Given the description of an element on the screen output the (x, y) to click on. 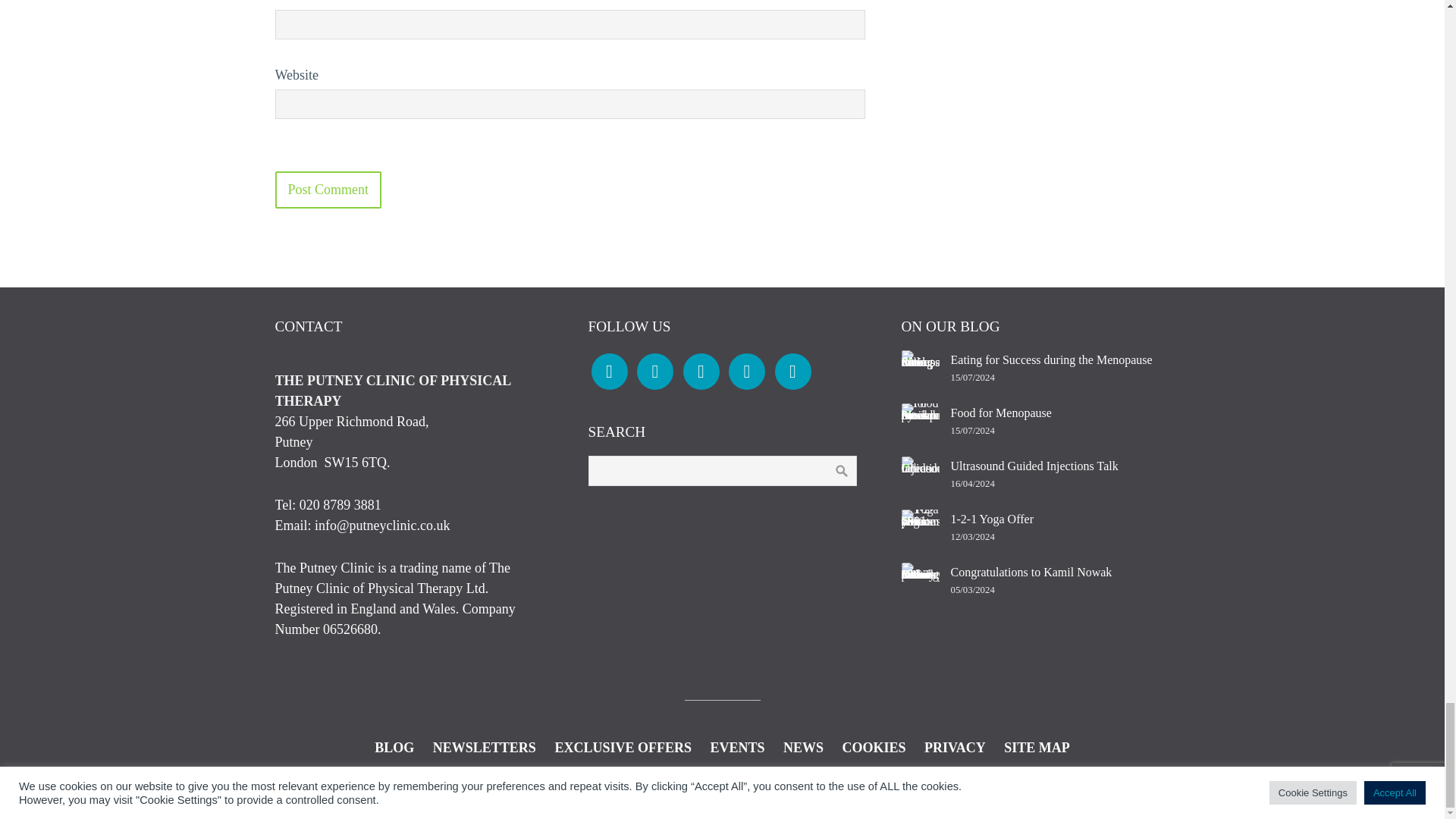
Instagram (654, 369)
Post Comment (328, 189)
Facebook (609, 369)
X (792, 369)
